Given the description of an element on the screen output the (x, y) to click on. 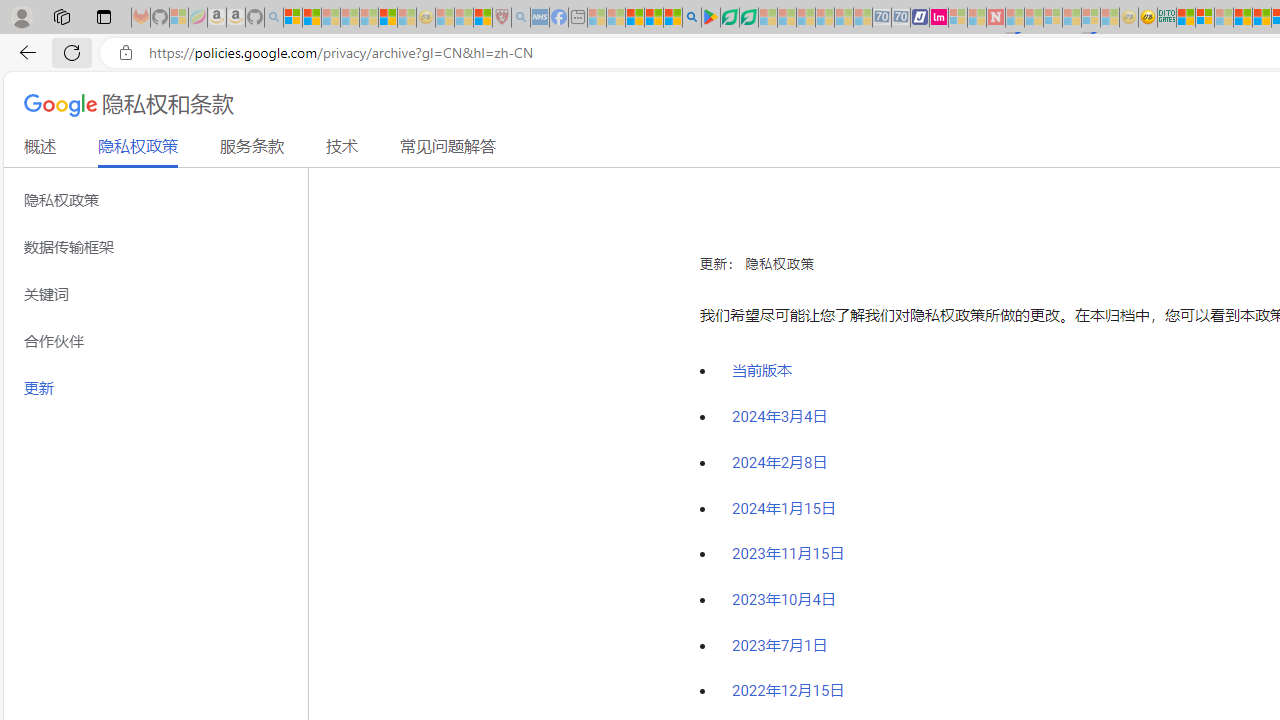
Expert Portfolios (1242, 17)
Jobs - lastminute.com Investor Portal (939, 17)
